Given the description of an element on the screen output the (x, y) to click on. 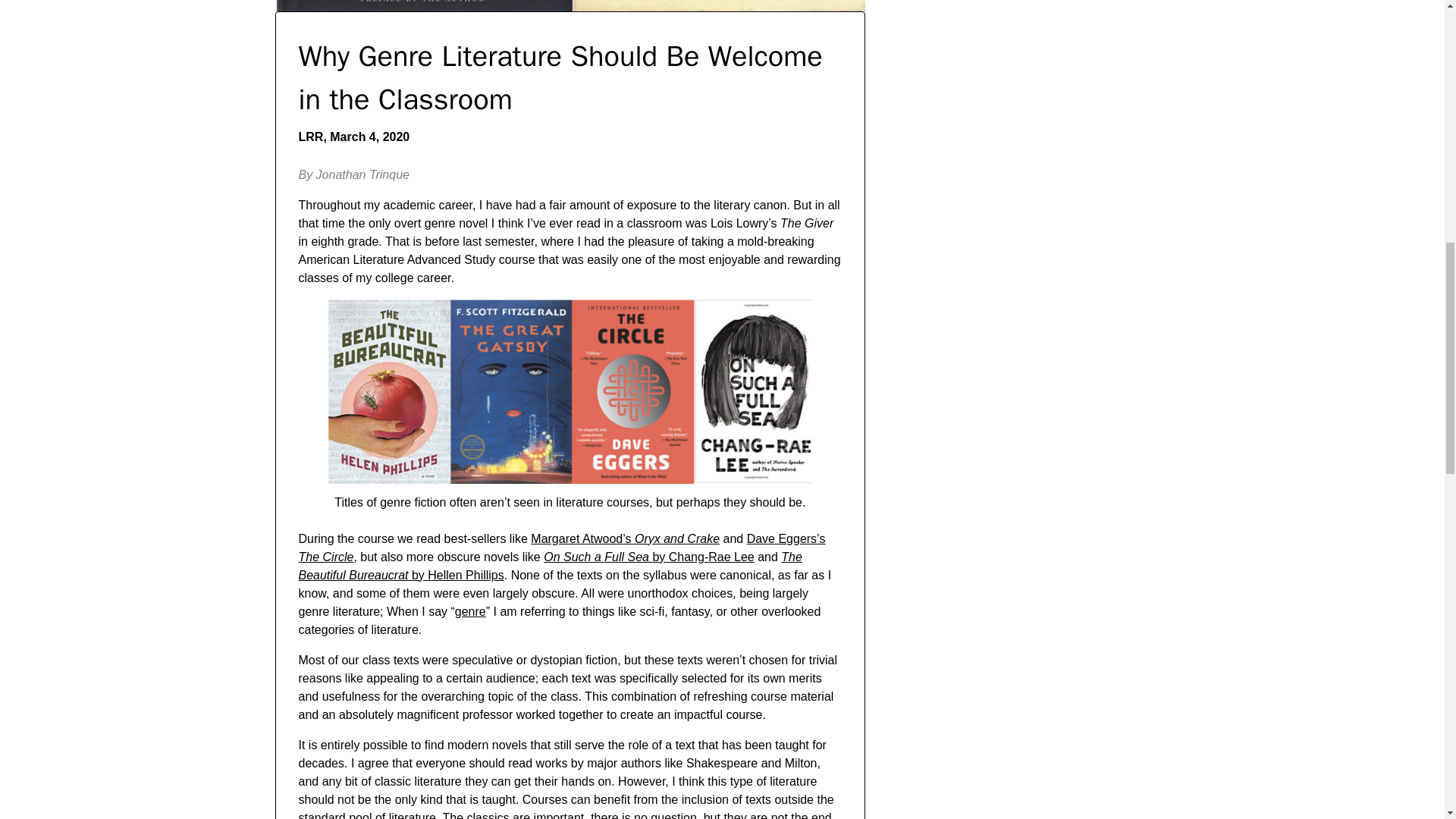
On Such a Full Sea by Chang-Rae Lee (648, 556)
March 4, 2020 (369, 136)
genre (470, 611)
The Beautiful Bureaucrat by Hellen Phillips (550, 565)
